Given the description of an element on the screen output the (x, y) to click on. 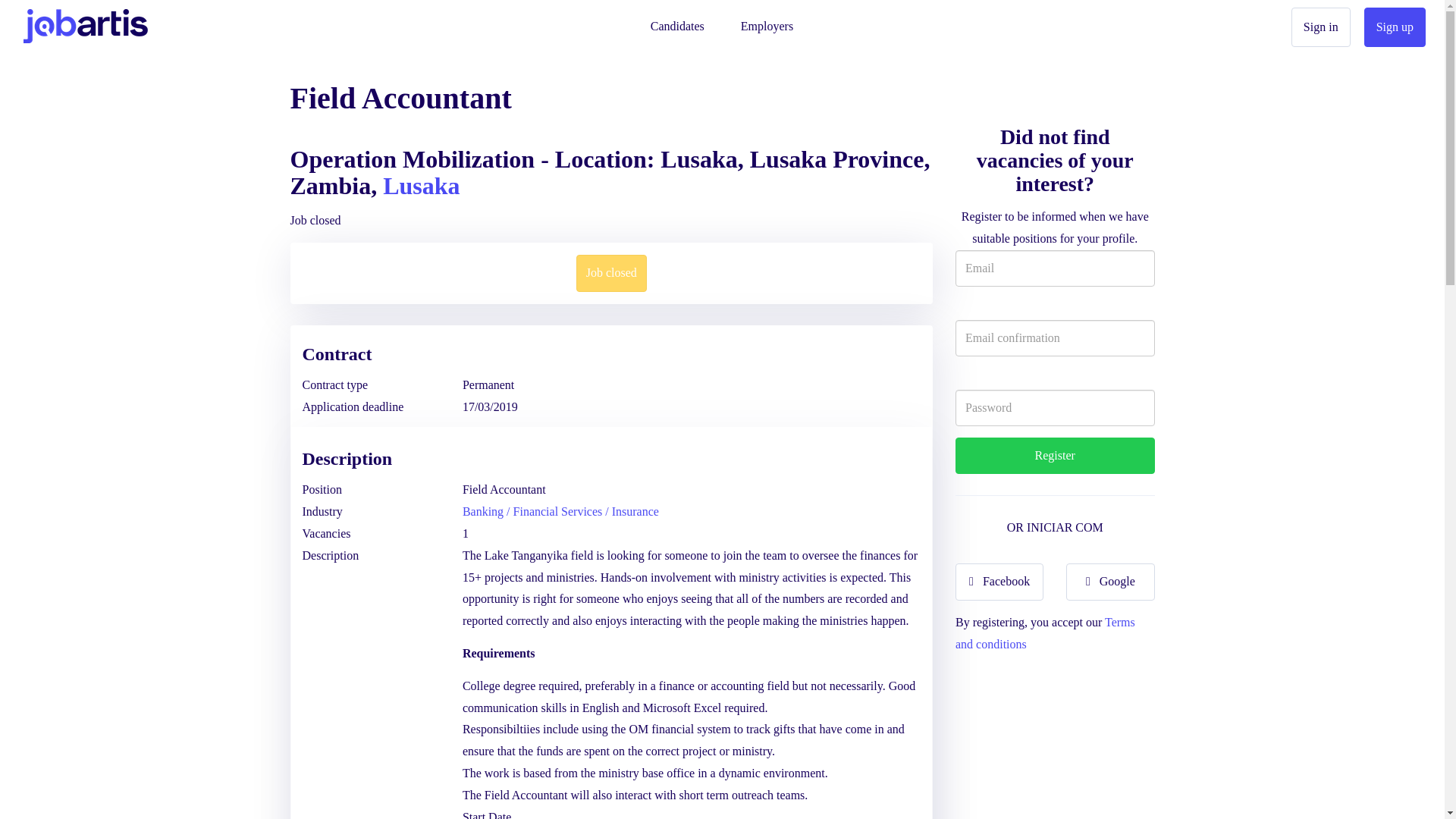
Lusaka (421, 185)
Employers (767, 23)
Candidates (677, 23)
Google (1109, 581)
Facebook (999, 581)
Register (1054, 456)
Register (1054, 456)
Terms and conditions (1045, 632)
Sign up (1394, 26)
Sign in (1321, 26)
Job closed (611, 272)
